Given the description of an element on the screen output the (x, y) to click on. 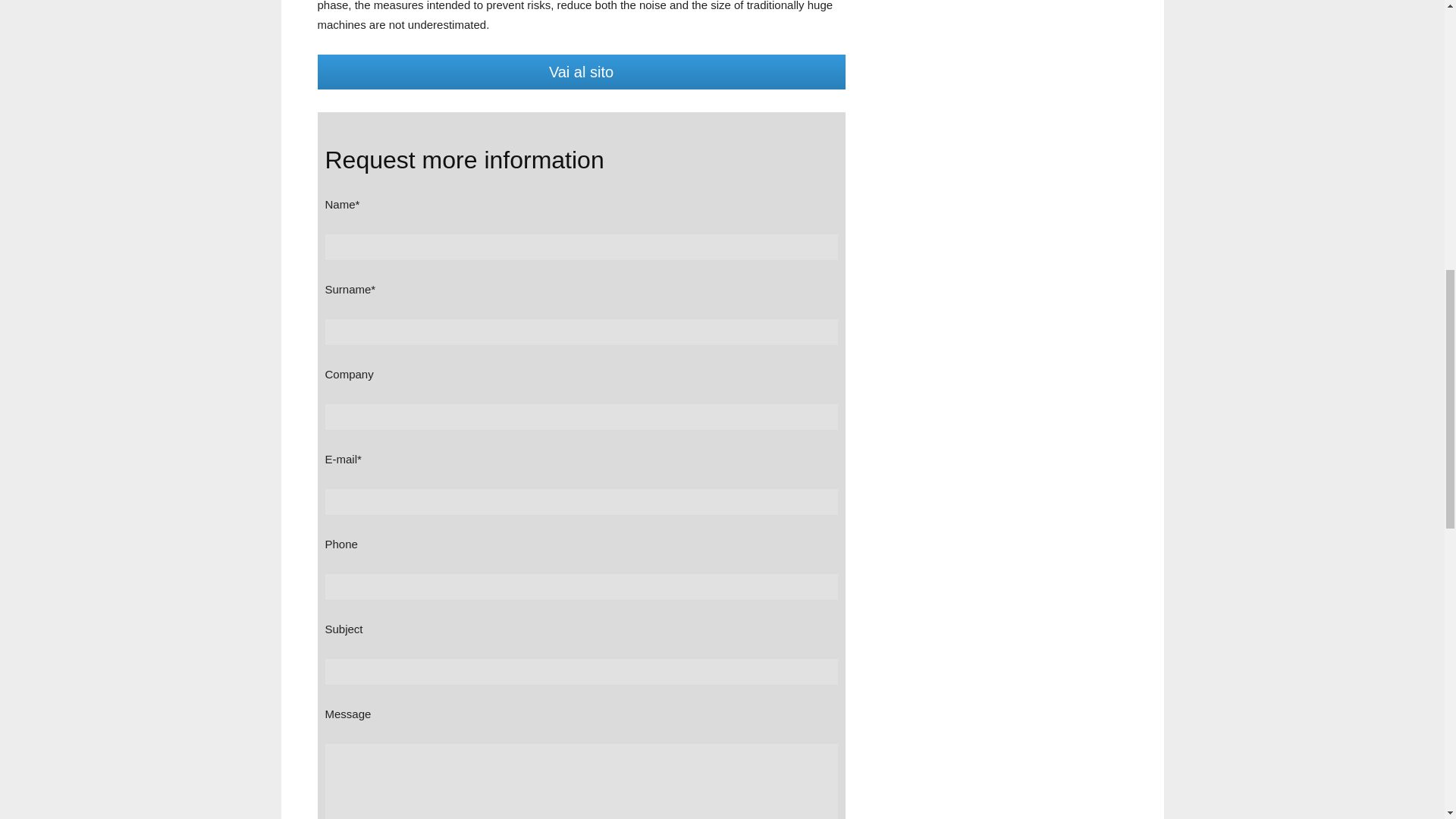
Vai al sito (580, 71)
